Given the description of an element on the screen output the (x, y) to click on. 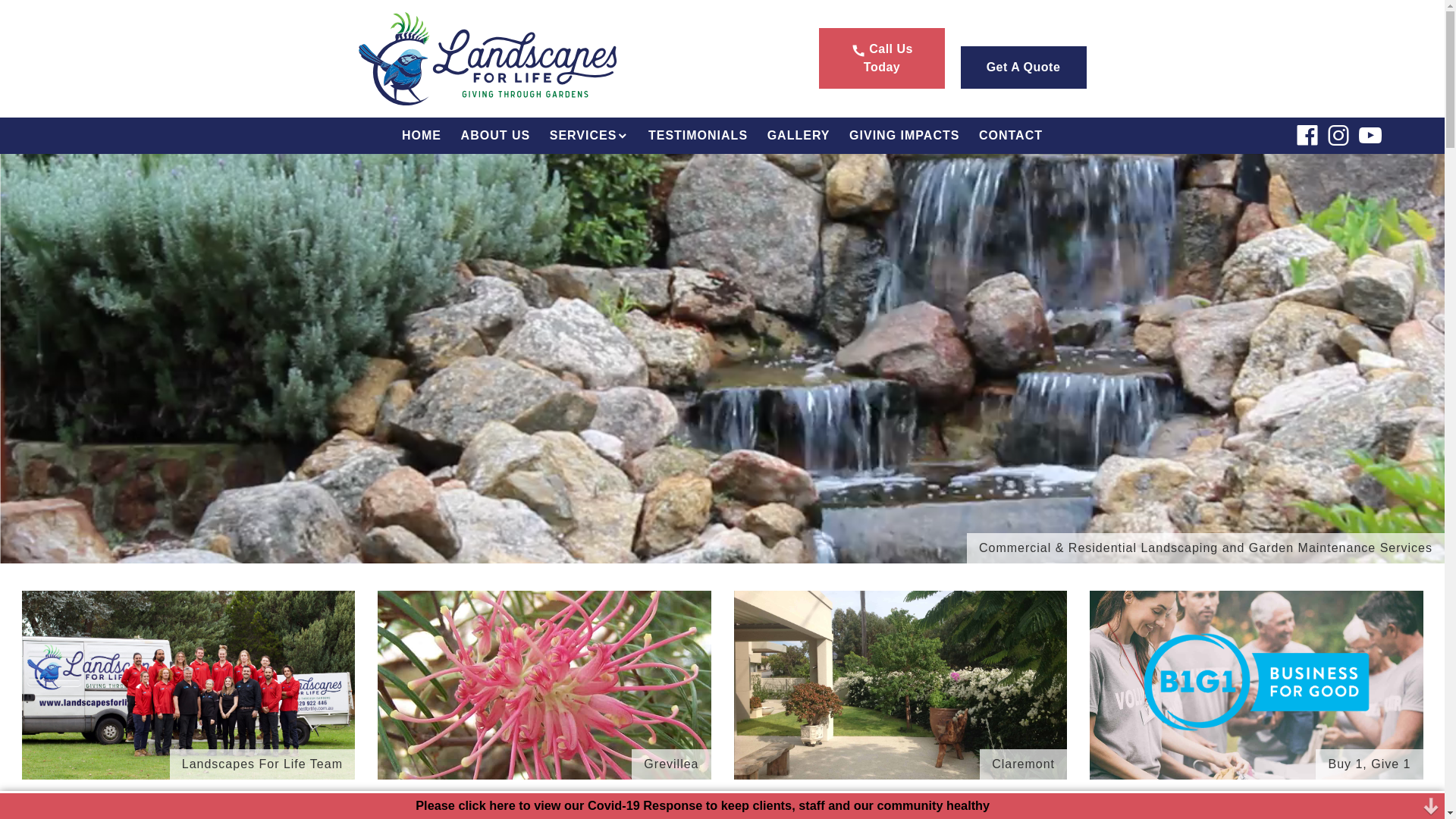
Return to homepage Element type: hover (502, 58)
CONTACT Element type: text (1010, 135)
GIVING IMPACTS Element type: text (904, 135)
Call Us Today Element type: text (881, 58)
Get A Quote Element type: text (1022, 67)
SERVICES Element type: text (588, 135)
HOME Element type: text (421, 135)
ABOUT US Element type: text (495, 135)
GALLERY Element type: text (798, 135)
TESTIMONIALS Element type: text (697, 135)
